Given the description of an element on the screen output the (x, y) to click on. 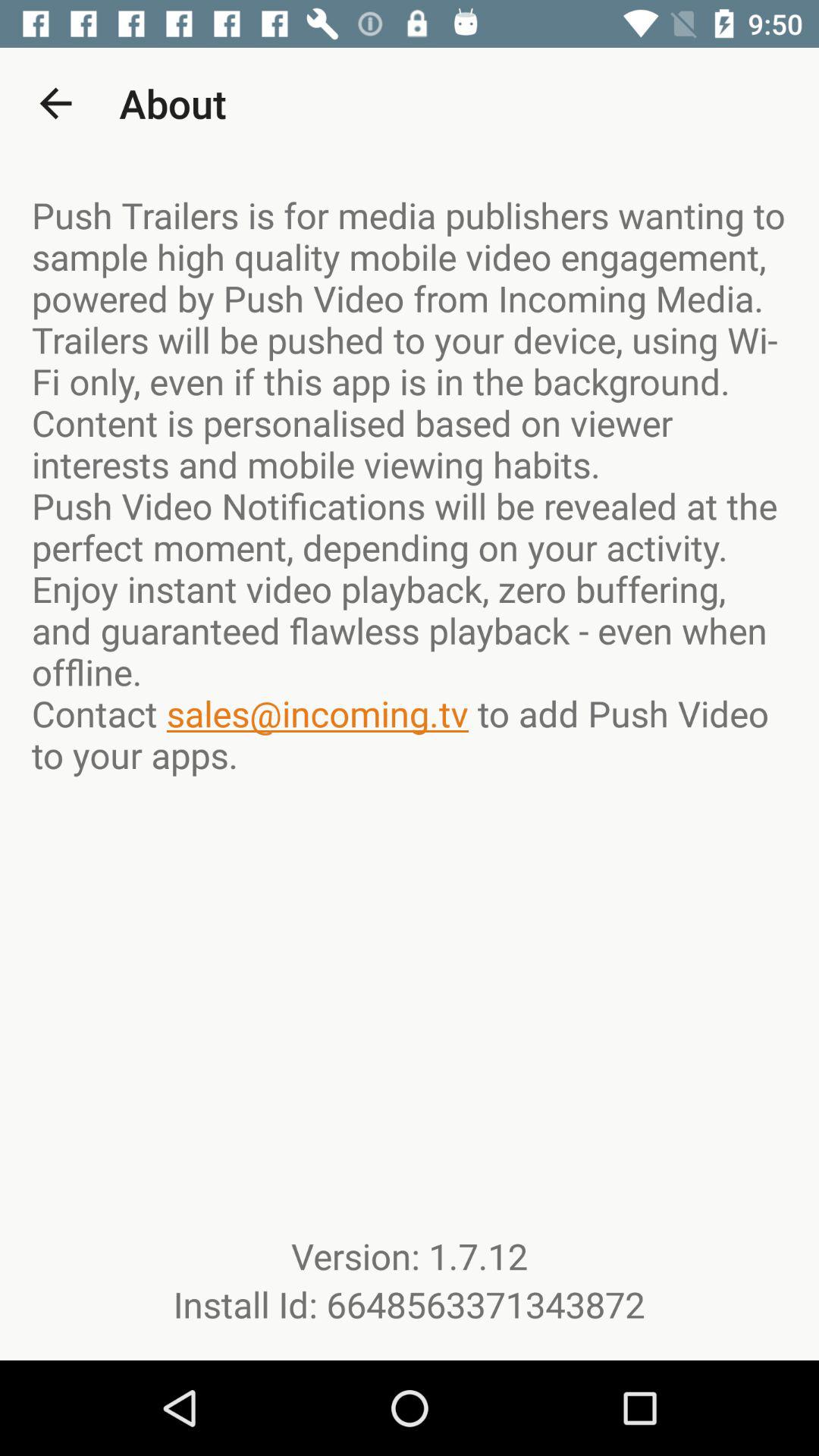
turn on the app to the left of about item (55, 103)
